Given the description of an element on the screen output the (x, y) to click on. 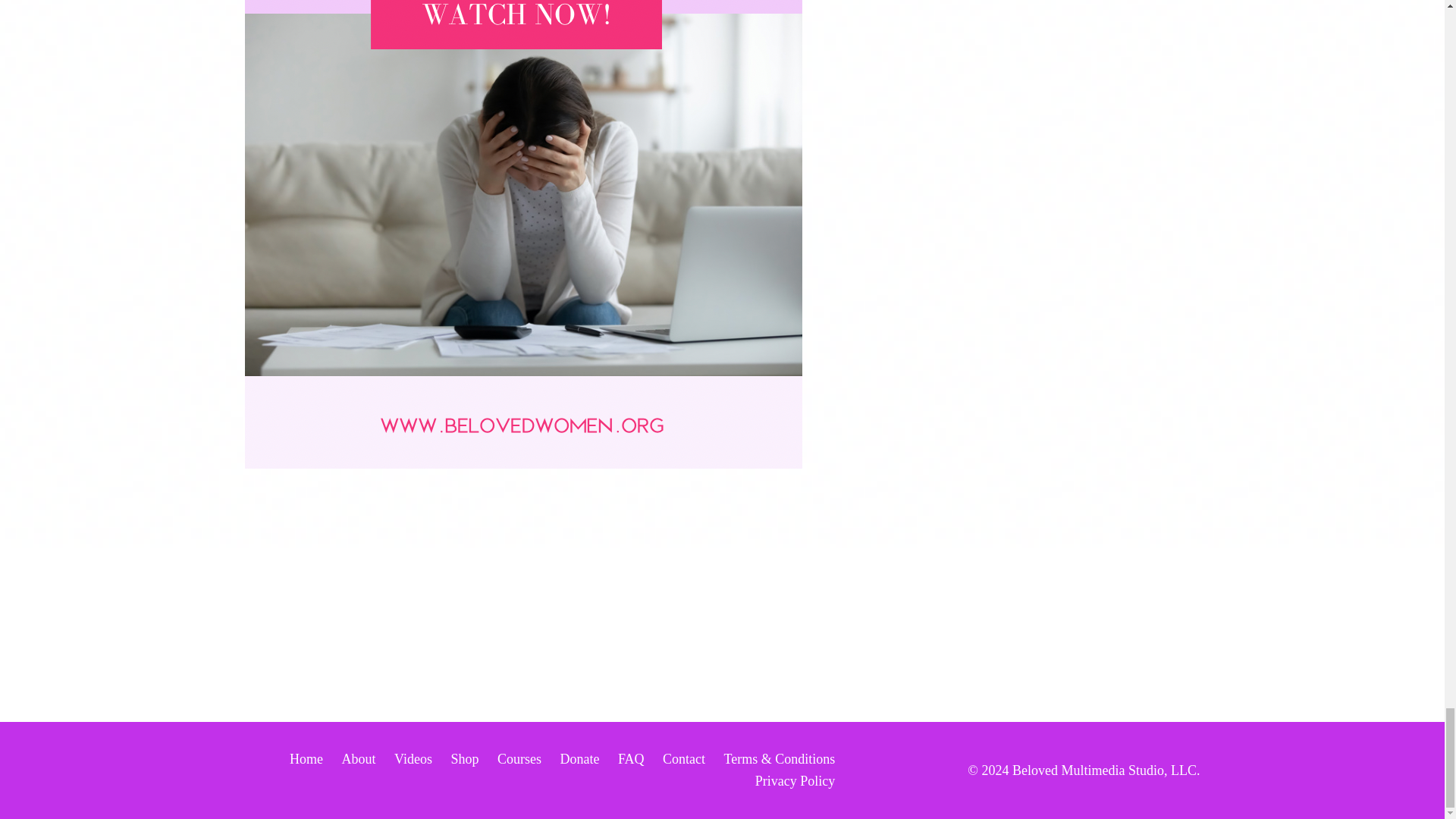
Home (306, 758)
Videos (413, 758)
Privacy Policy (795, 780)
FAQ (631, 758)
Contact (683, 758)
About (357, 758)
Shop (464, 758)
Courses (519, 758)
Donate (578, 758)
